Given the description of an element on the screen output the (x, y) to click on. 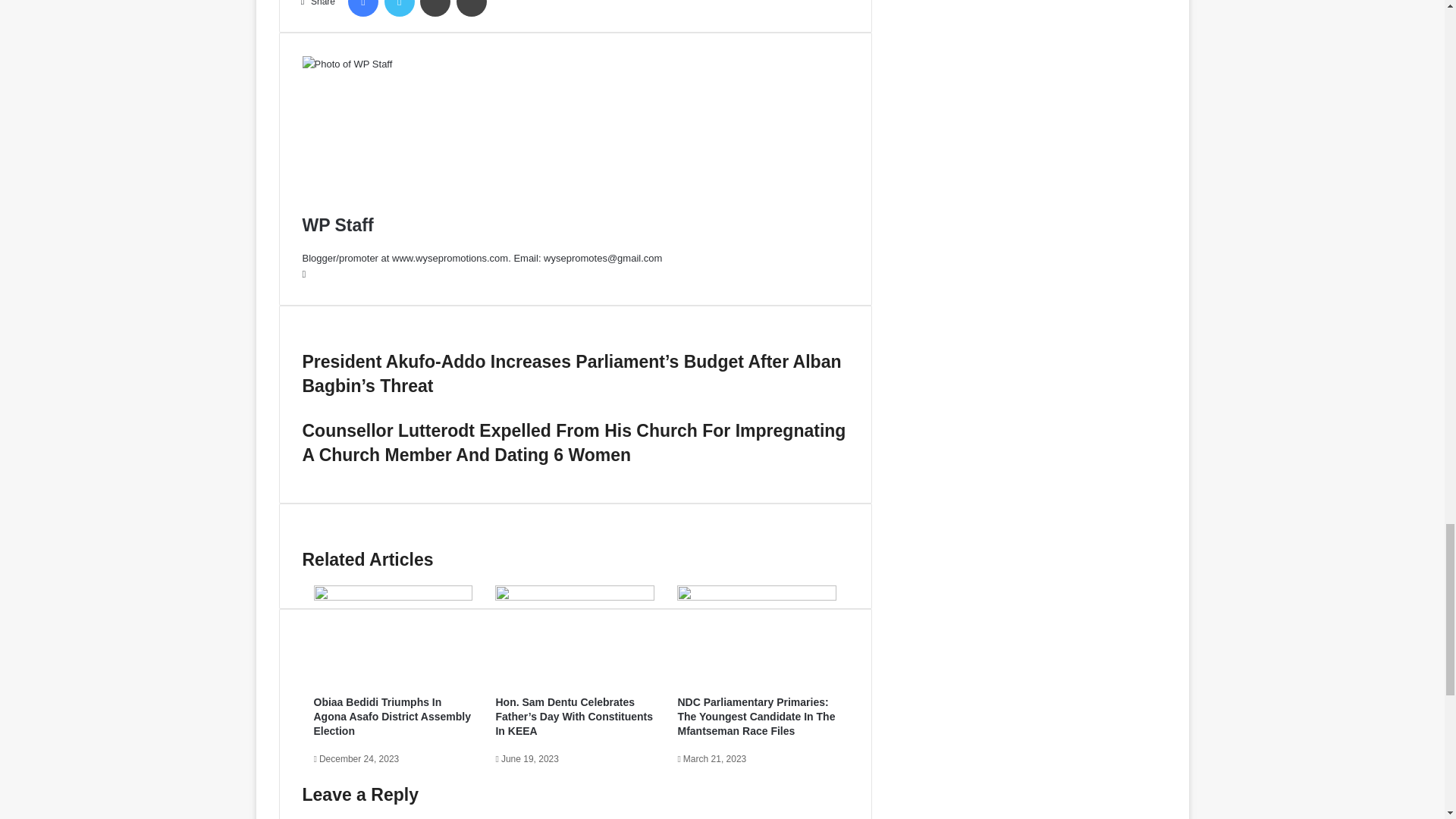
Facebook (362, 8)
LinkedIn (434, 8)
Twitter (399, 8)
Facebook (362, 8)
Pinterest (471, 8)
Twitter (399, 8)
